Given the description of an element on the screen output the (x, y) to click on. 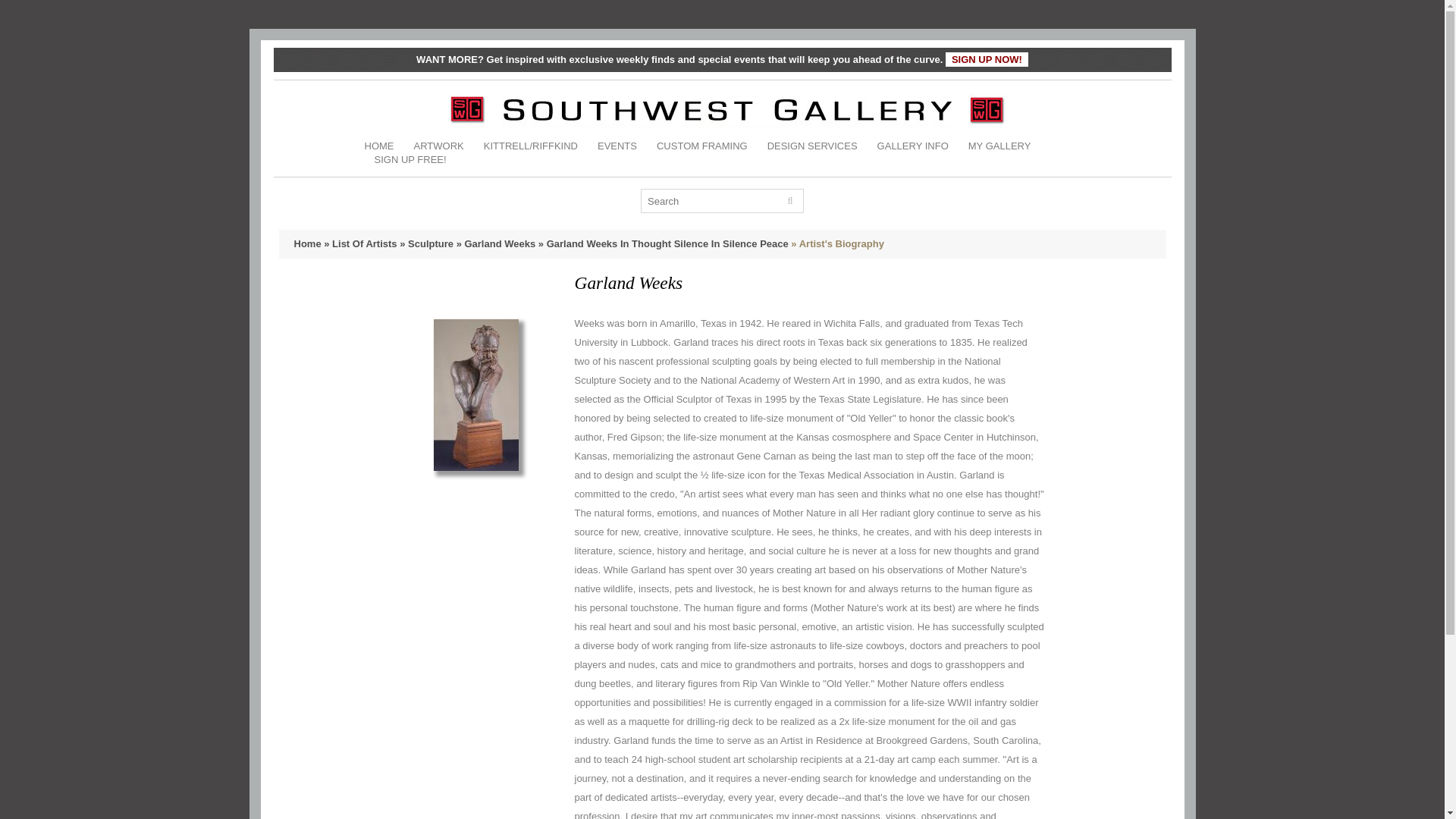
CUSTOM FRAMING (702, 146)
ARTWORK (438, 146)
Home (307, 243)
DESIGN SERVICES (812, 146)
SIGN UP NOW! (985, 59)
Southwest Gallery (728, 108)
SIGN UP FREE! (410, 160)
MY GALLERY (999, 146)
EVENTS (616, 146)
GALLERY INFO (913, 146)
